Given the description of an element on the screen output the (x, y) to click on. 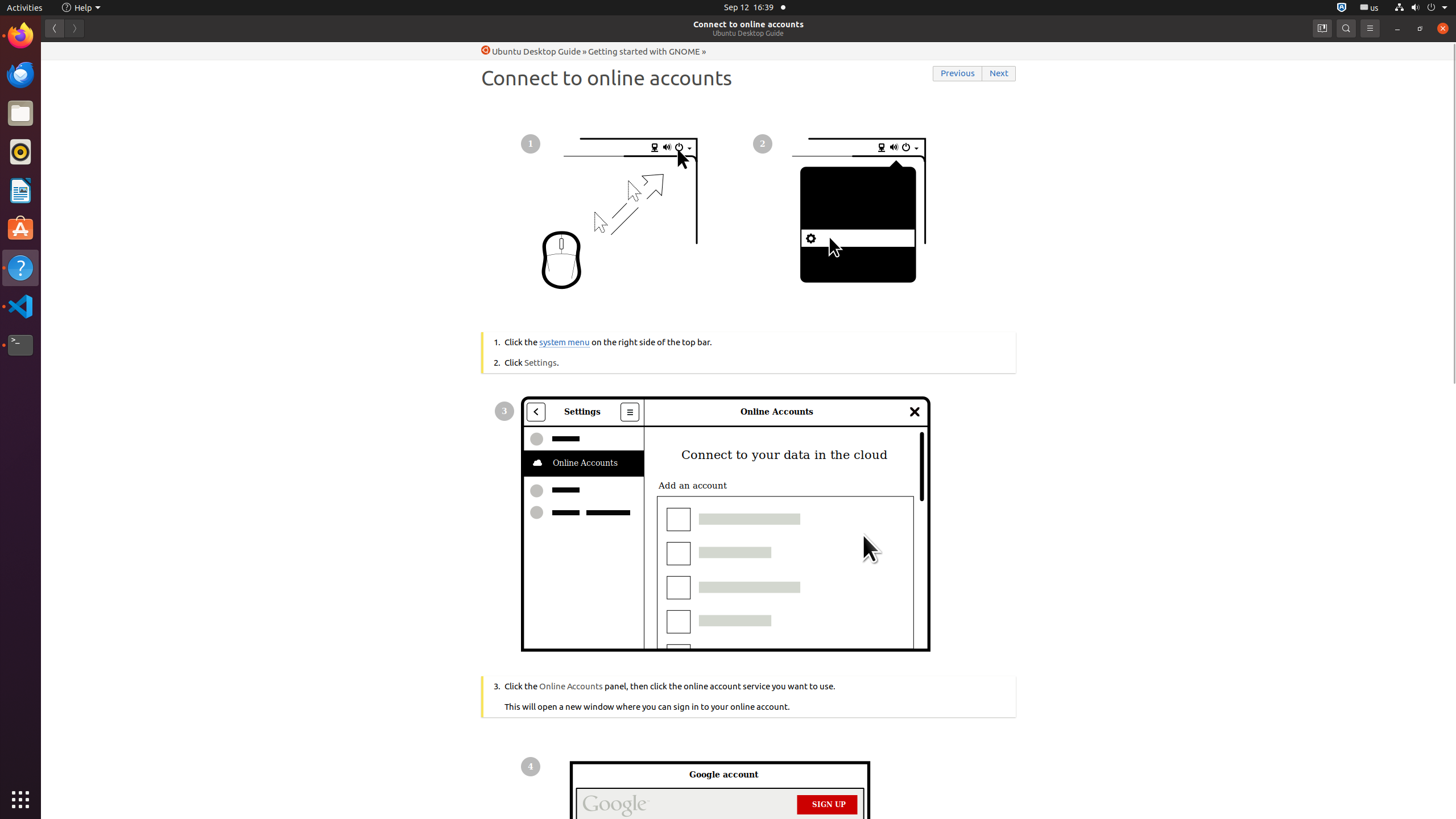
Trash Element type: label (75, 108)
Next Element type: link (999, 73)
Firefox Web Browser Element type: push-button (20, 35)
